Given the description of an element on the screen output the (x, y) to click on. 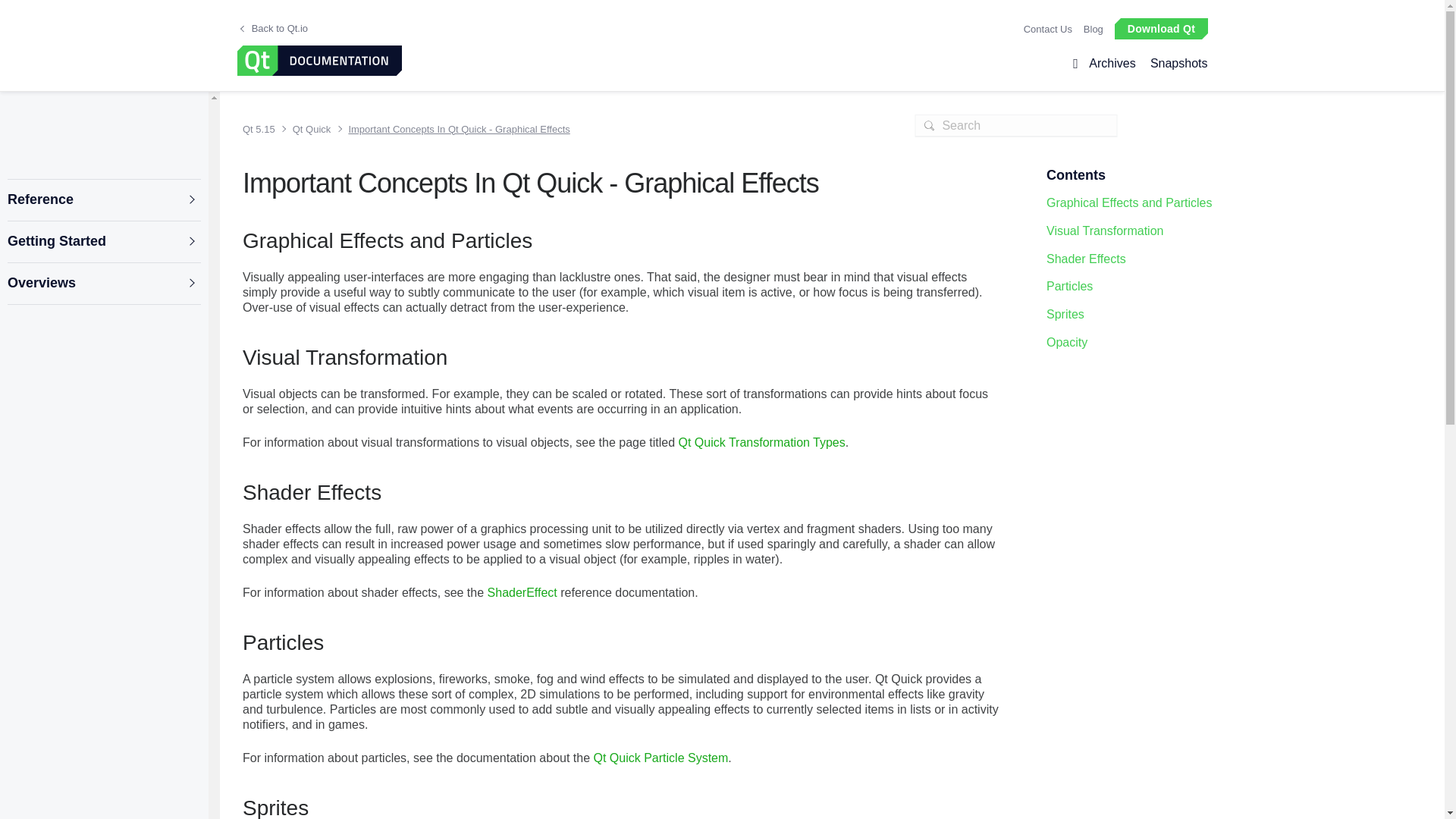
Snapshots (1174, 63)
Download Qt (1160, 27)
Important Concepts In Qt Quick - Graphical Effects (453, 129)
Back to Qt.io (273, 28)
Blog (1093, 28)
Qt 5.15 (262, 129)
Overviews (103, 283)
Archives (1111, 63)
Getting Started (103, 241)
Contact Us (1047, 28)
Qt Quick (308, 129)
Reference (103, 199)
Qt Quick Transformation Types (761, 441)
